Given the description of an element on the screen output the (x, y) to click on. 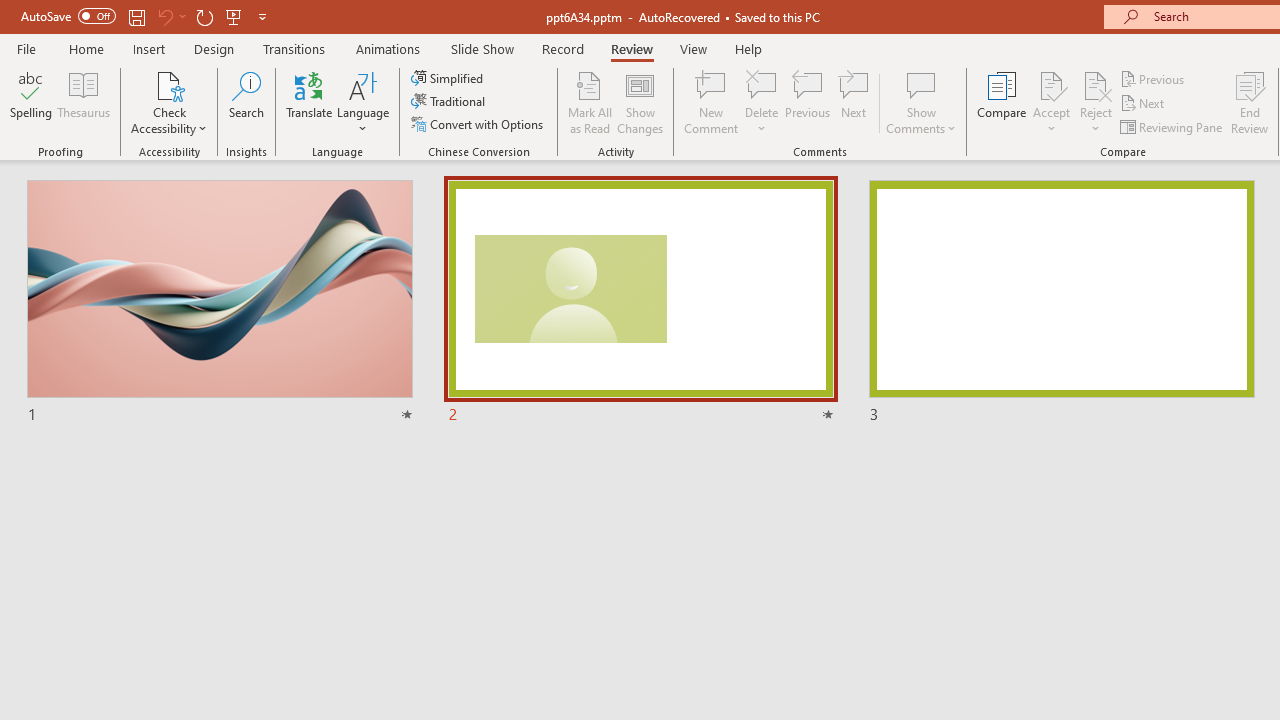
Reject Change (1096, 84)
Mark All as Read (589, 102)
Traditional (449, 101)
Accept (1051, 102)
Thesaurus... (83, 102)
